Given the description of an element on the screen output the (x, y) to click on. 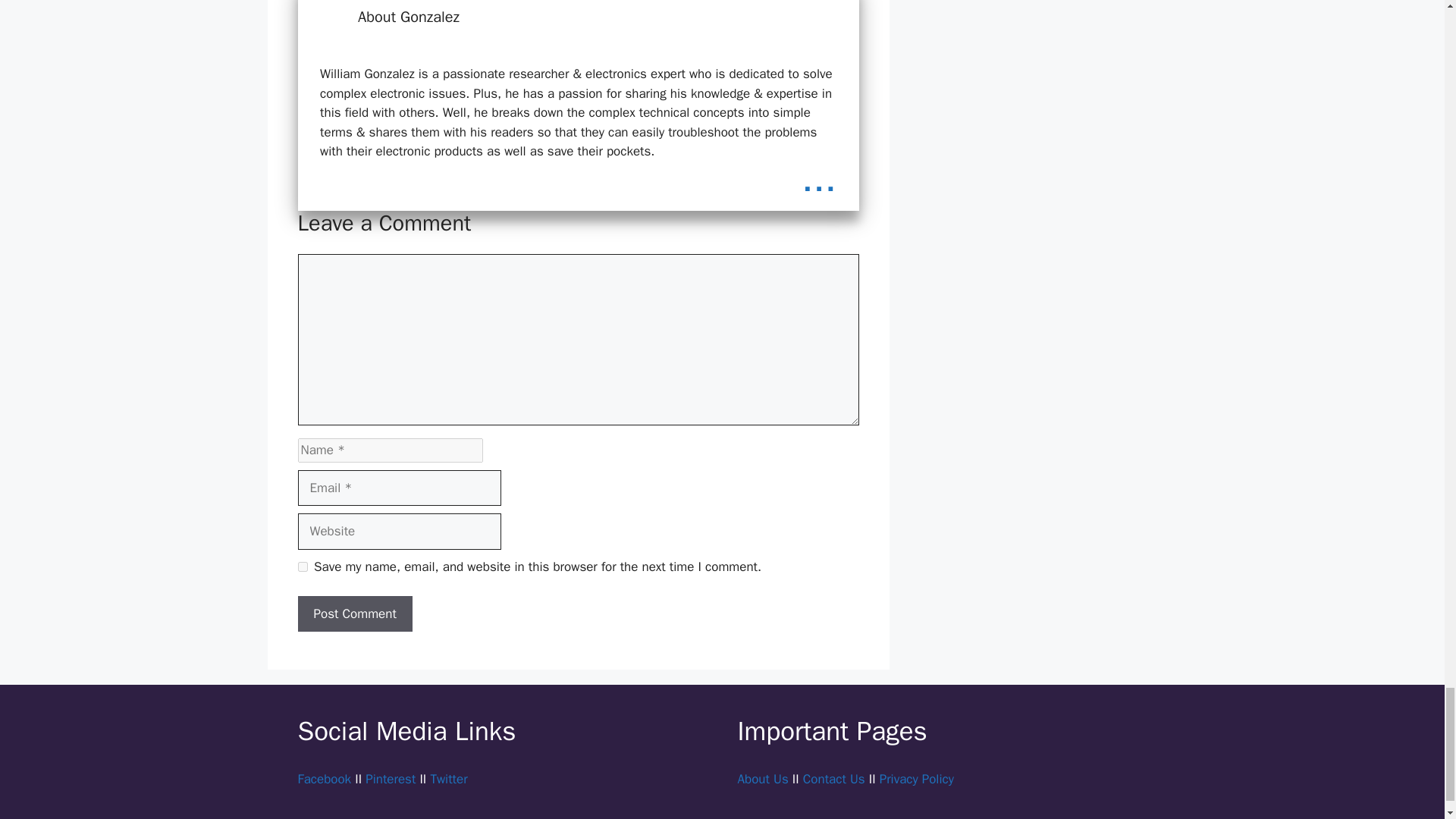
Post Comment (354, 614)
Post Comment (354, 614)
... (818, 178)
Twitter (448, 779)
About Us (761, 779)
Pinterest (389, 779)
Facebook (323, 779)
Privacy Policy (916, 779)
Read more (818, 178)
Contact Us (833, 779)
yes (302, 566)
